Given the description of an element on the screen output the (x, y) to click on. 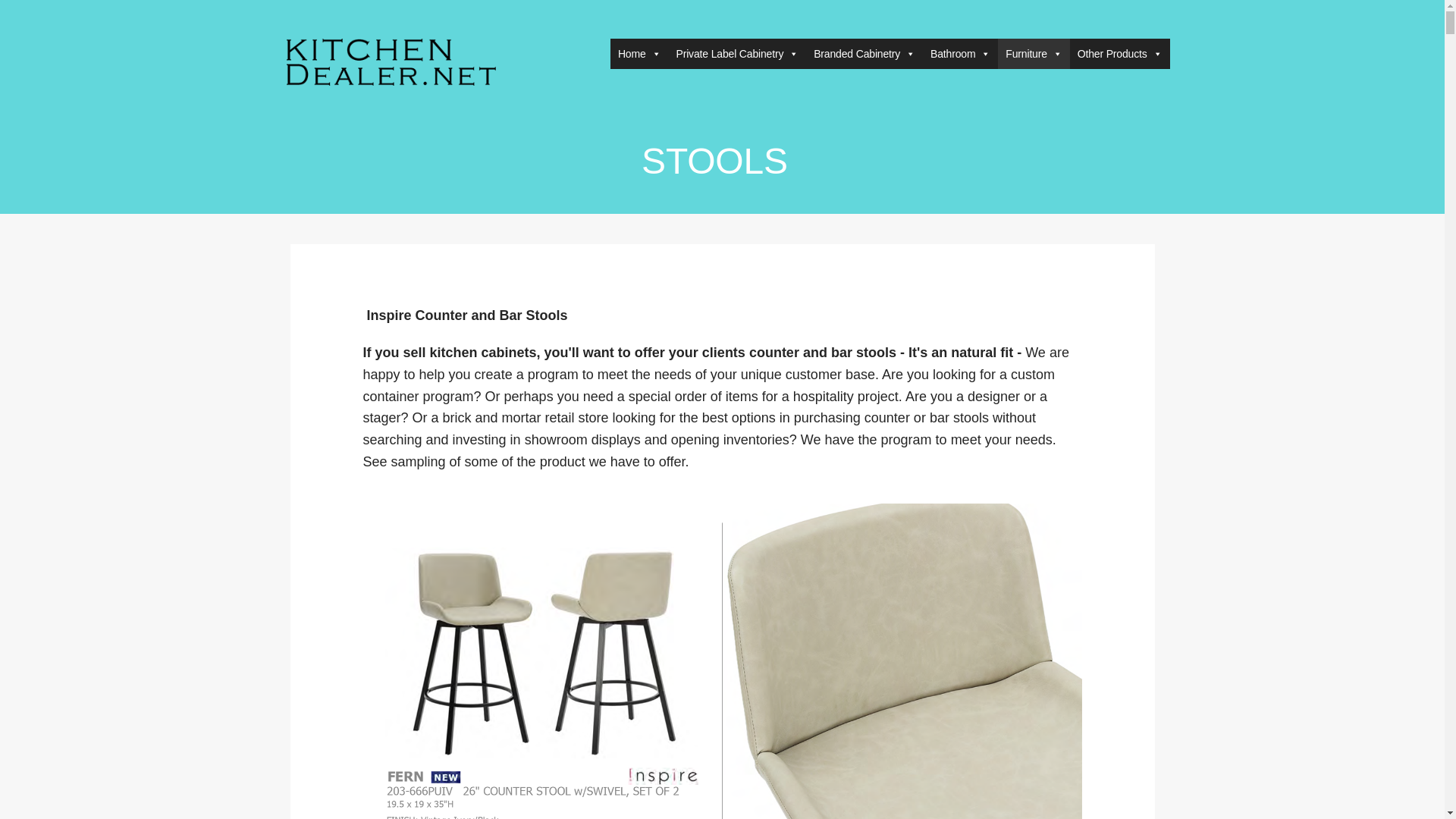
Branded Cabinetry (864, 53)
KitchenDealer.net (375, 95)
Home (639, 53)
Bathroom (960, 53)
Private Label Cabinetry (737, 53)
